Given the description of an element on the screen output the (x, y) to click on. 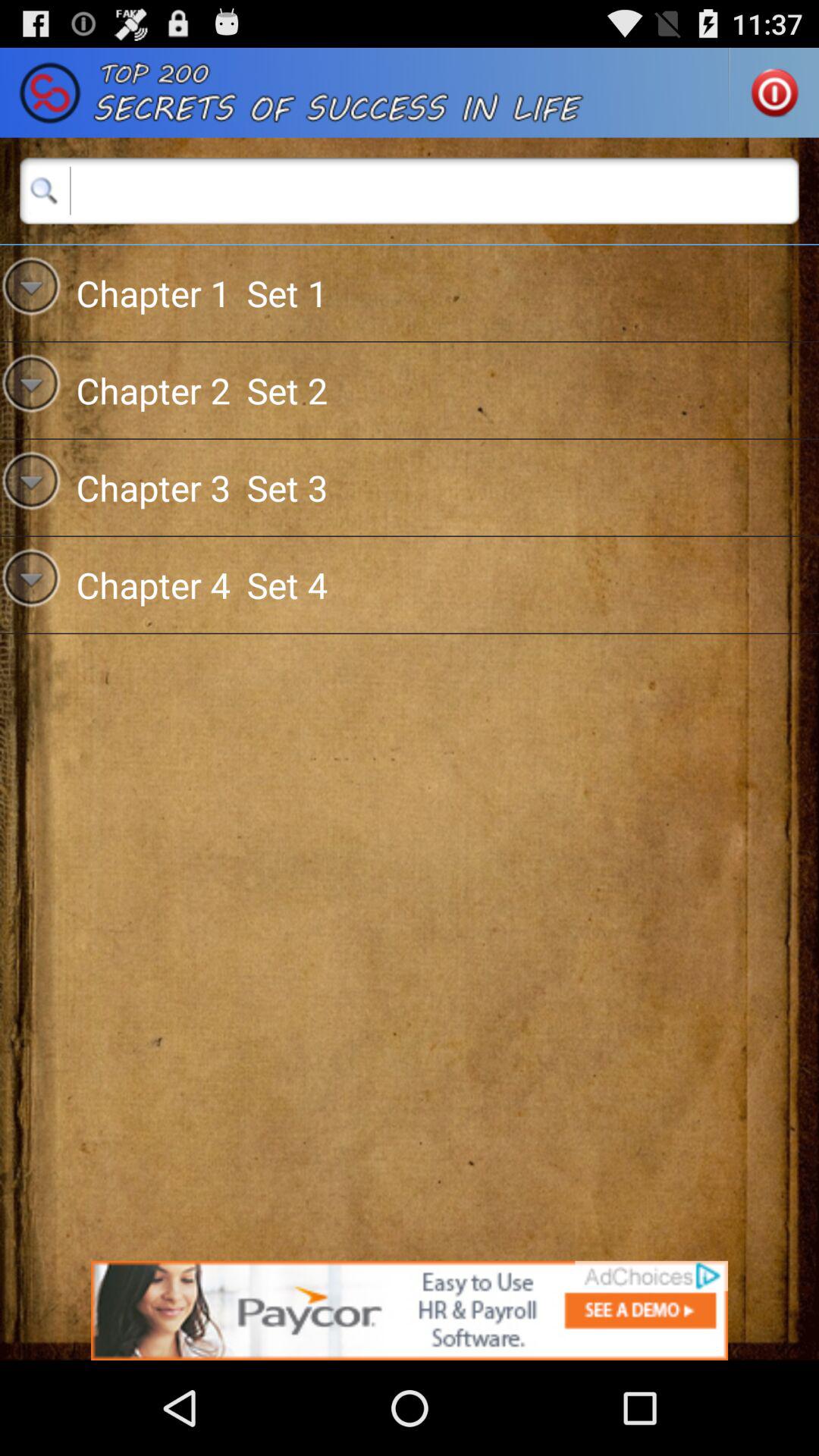
toggle the search button (409, 190)
